Given the description of an element on the screen output the (x, y) to click on. 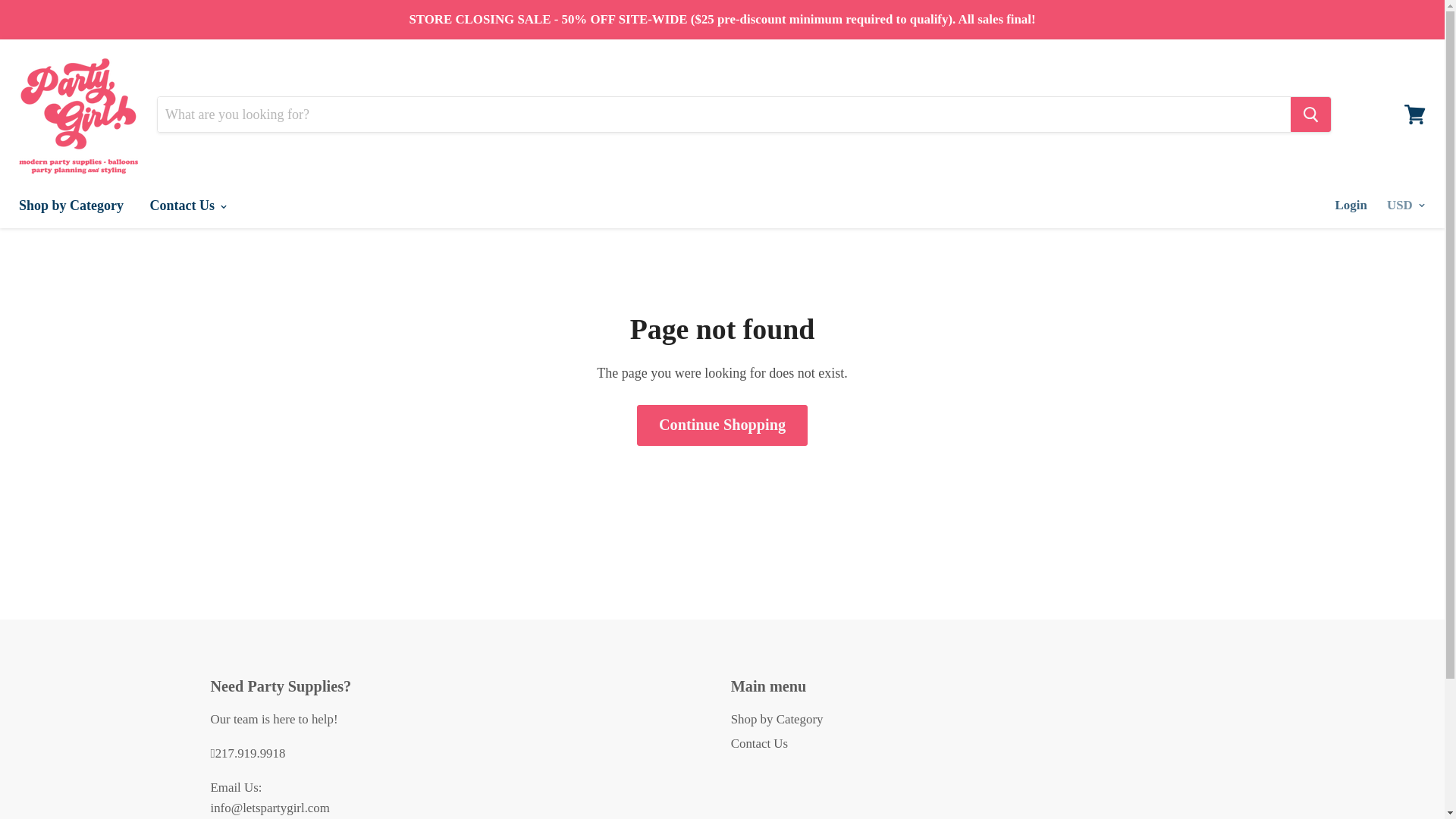
Login (1350, 205)
Contact Us (758, 743)
Continue Shopping (722, 424)
Contact Us (186, 205)
Shop by Category (71, 205)
Shop by Category (777, 718)
View cart (1414, 114)
